Given the description of an element on the screen output the (x, y) to click on. 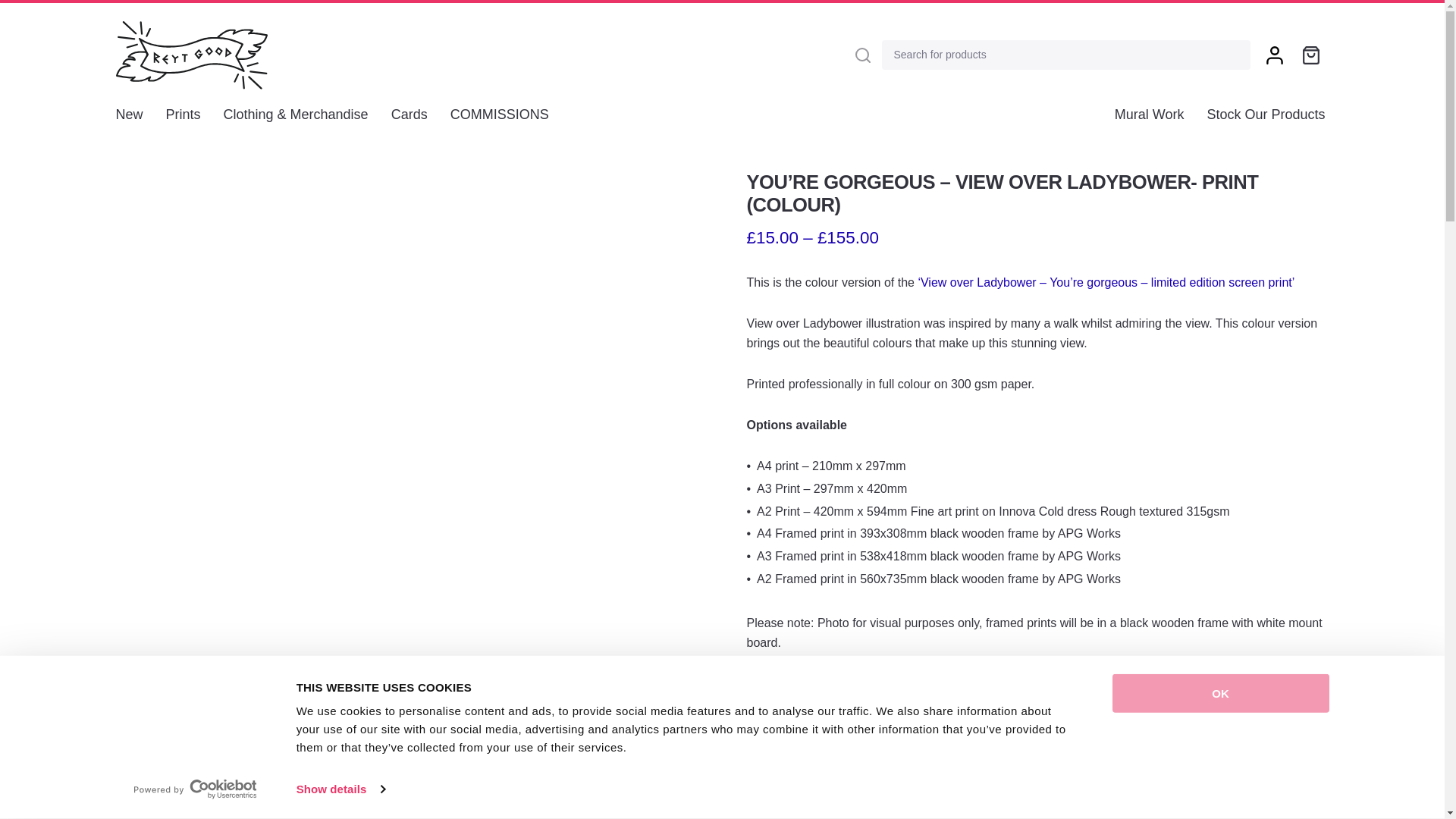
Show details (340, 789)
OK (1219, 693)
1 (835, 779)
